Given the description of an element on the screen output the (x, y) to click on. 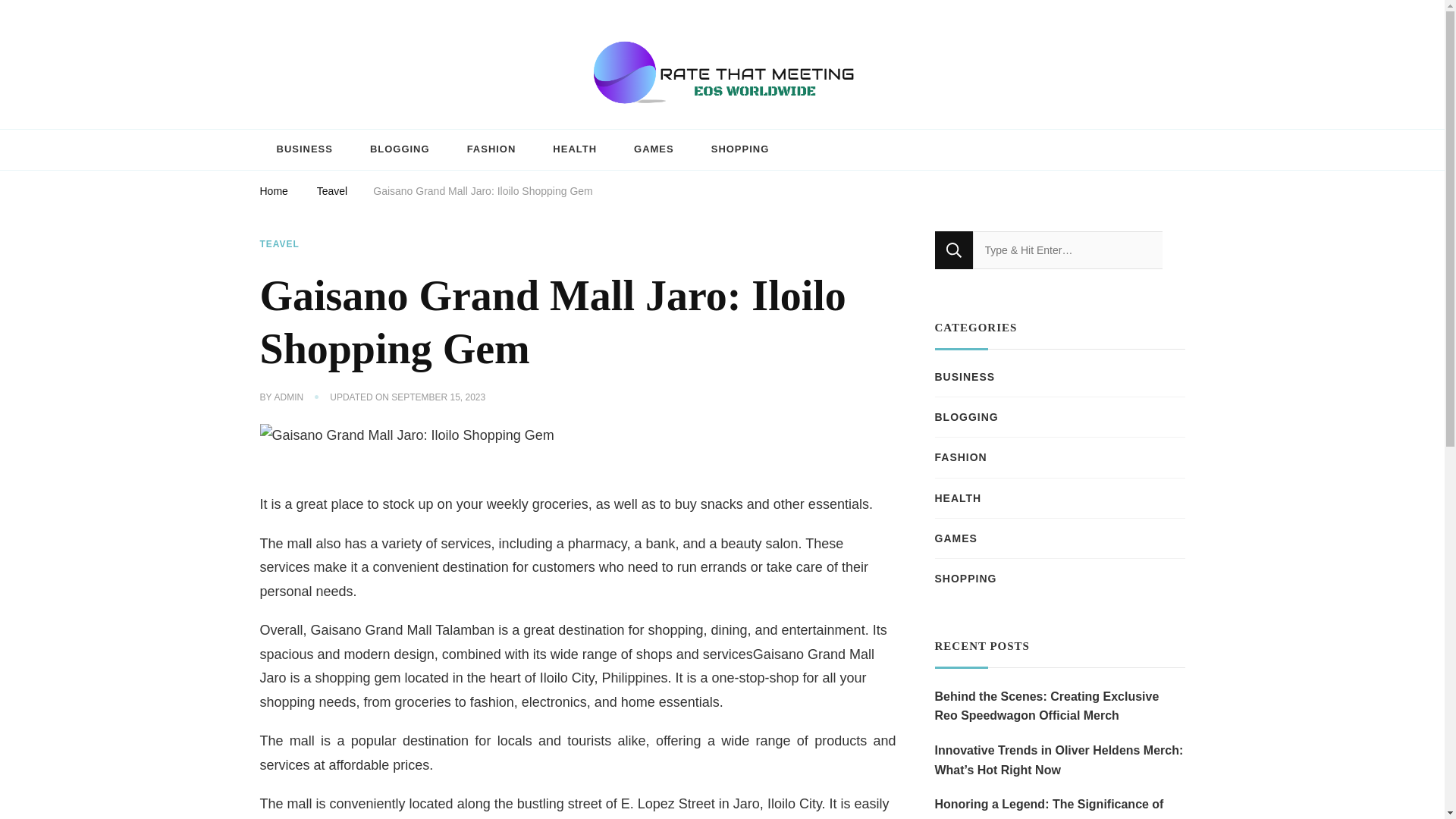
Teavel (332, 192)
SEPTEMBER 15, 2023 (437, 397)
GAMES (955, 538)
SHOPPING (740, 149)
ADMIN (289, 397)
FASHION (490, 149)
TEAVEL (278, 244)
FASHION (960, 457)
BLOGGING (965, 416)
Search (953, 249)
